Given the description of an element on the screen output the (x, y) to click on. 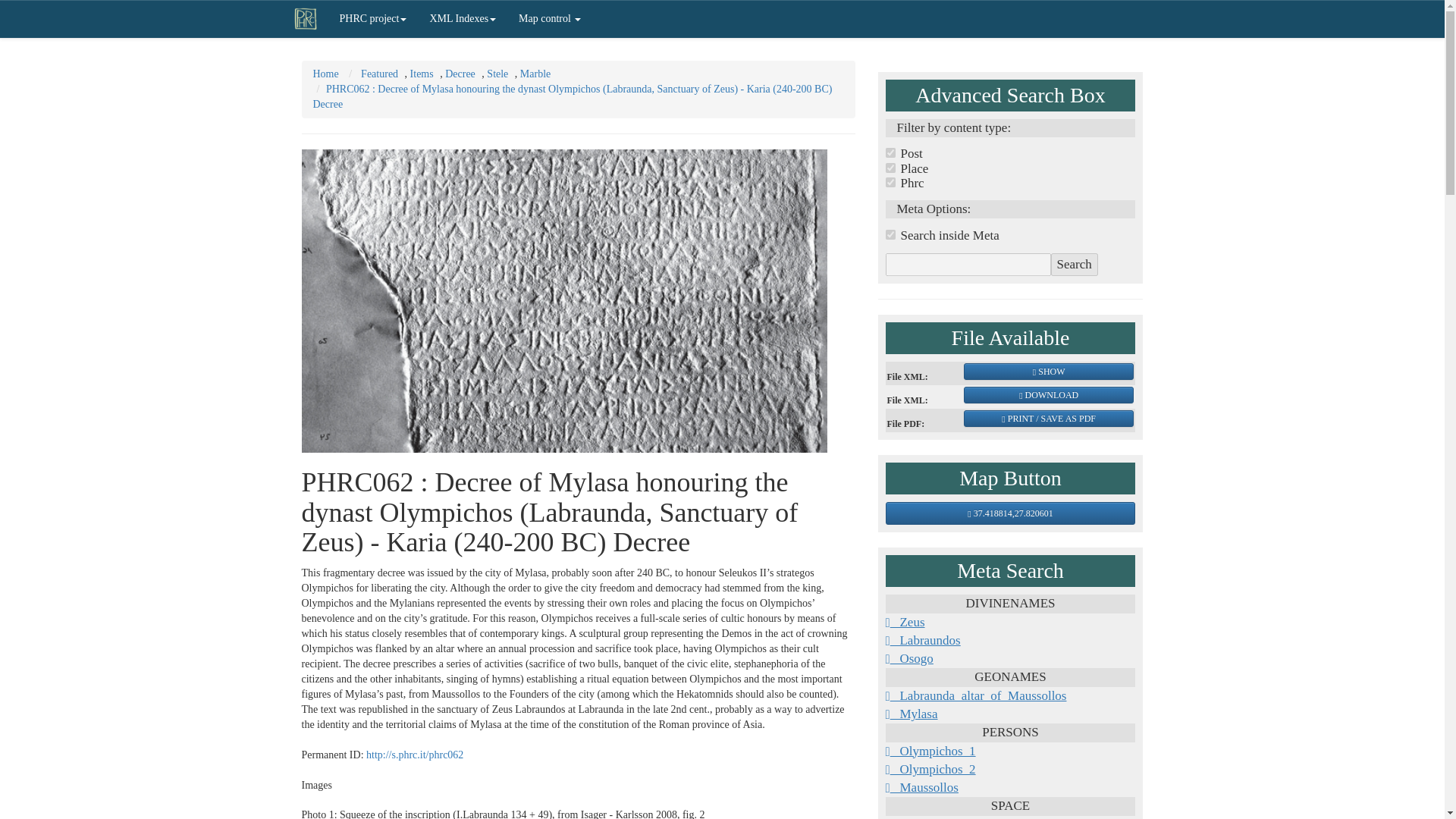
post (890, 153)
phrc (890, 182)
PHRC project (372, 18)
Search (1074, 264)
XML Indexes (461, 18)
37.418814,27.820601 (1010, 513)
Featured (379, 73)
Home (325, 73)
place (890, 167)
Map control (549, 18)
Decree (460, 73)
Items (421, 73)
Stele (497, 73)
1 (890, 234)
Marble (534, 73)
